Given the description of an element on the screen output the (x, y) to click on. 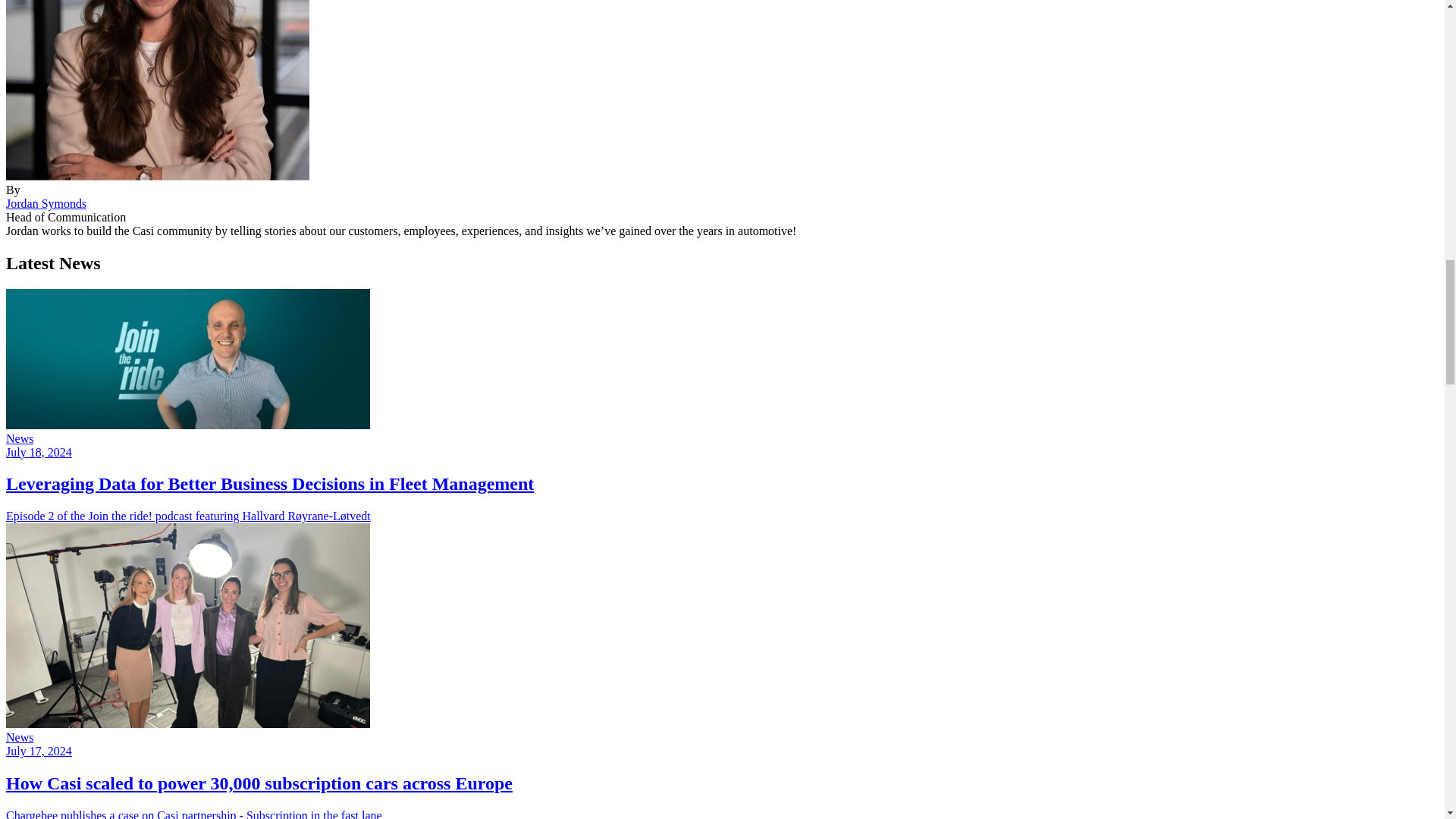
Jordan Symonds (45, 203)
